Given the description of an element on the screen output the (x, y) to click on. 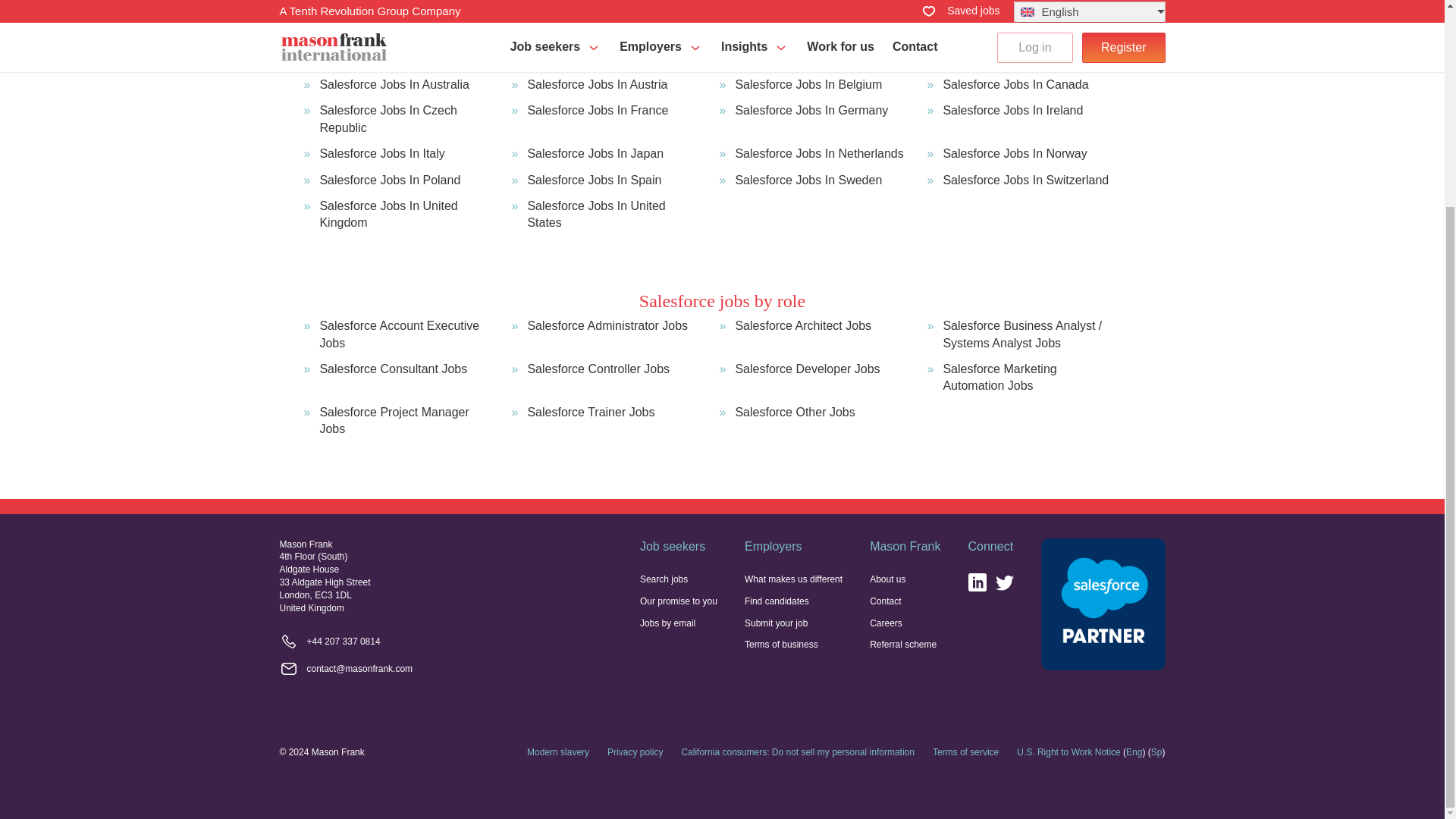
Salesforce Jobs In Canada (1014, 84)
Salesforce Jobs In Australia (393, 84)
Salesforce Jobs In Austria (596, 84)
Salesforce Jobs In Japan (595, 153)
Salesforce Jobs In Belgium (808, 84)
Salesforce Jobs In Netherlands (818, 153)
Salesforce Jobs In Czech Republic (405, 119)
Salesforce Jobs In Ireland (1012, 119)
Salesforce Jobs In Norway (1014, 153)
Salesforce Jobs In France (597, 119)
Salesforce Jobs In Poland (389, 180)
Salesforce Jobs In Germany (811, 119)
Salesforce Jobs In Italy (381, 153)
